Given the description of an element on the screen output the (x, y) to click on. 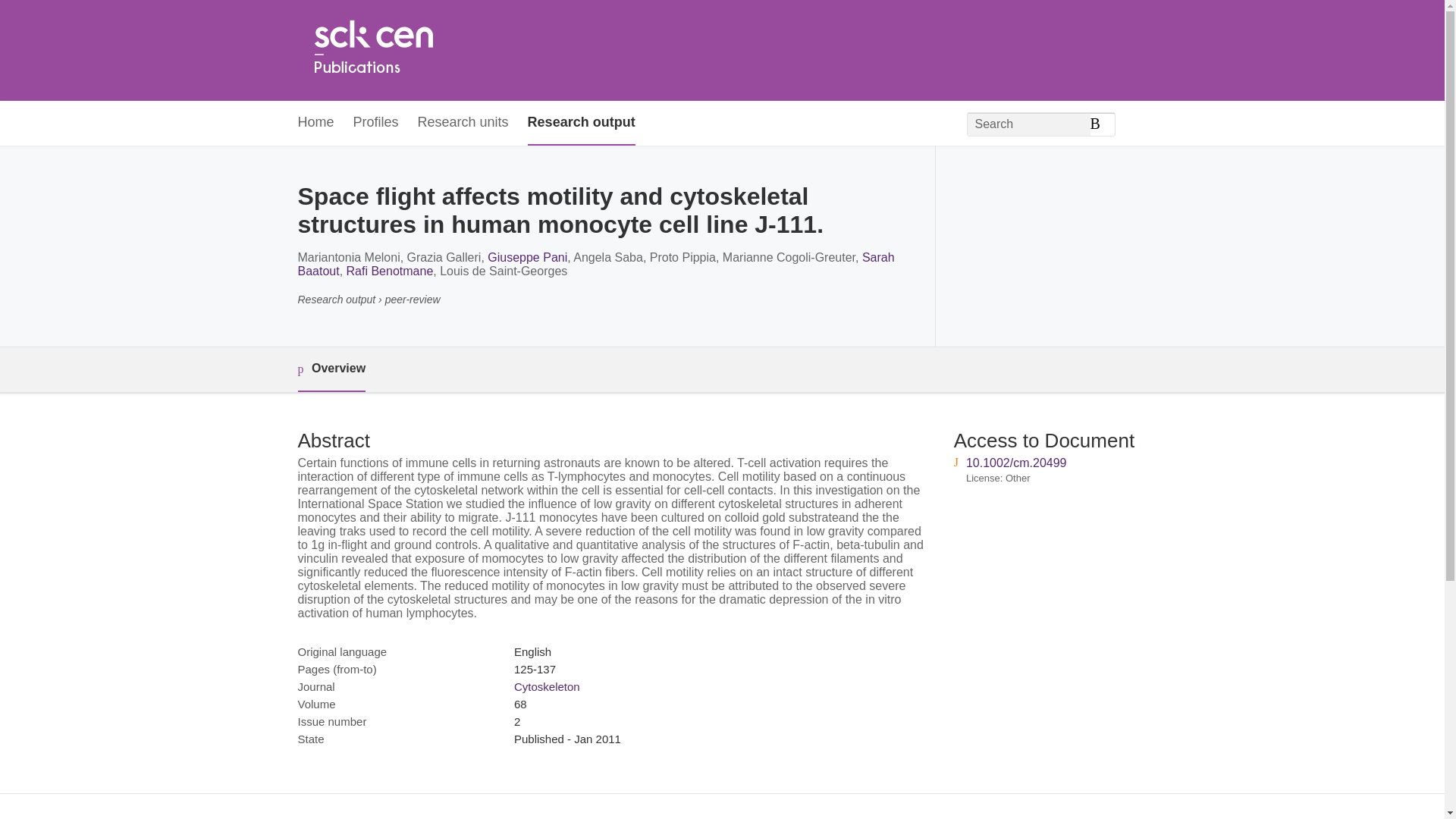
Home (372, 50)
Research units (462, 122)
Sarah Baatout (595, 263)
Giuseppe Pani (527, 256)
Cytoskeleton (546, 686)
Rafi Benotmane (389, 270)
Overview (331, 369)
Profiles (375, 122)
Research output (580, 122)
